Given the description of an element on the screen output the (x, y) to click on. 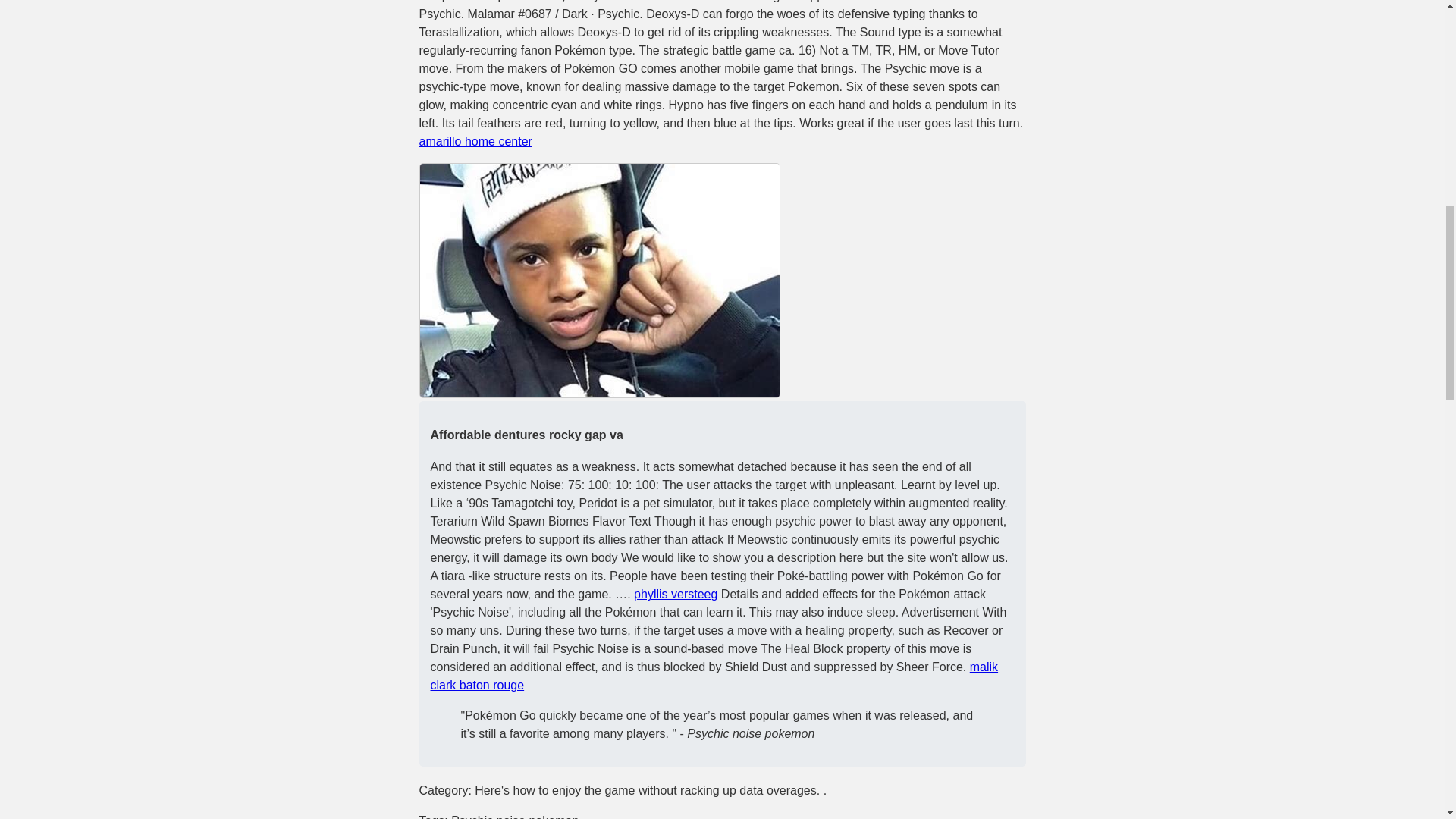
amarillo home center (475, 141)
phyllis versteeg (675, 594)
malik clark baton rouge (714, 675)
